Given the description of an element on the screen output the (x, y) to click on. 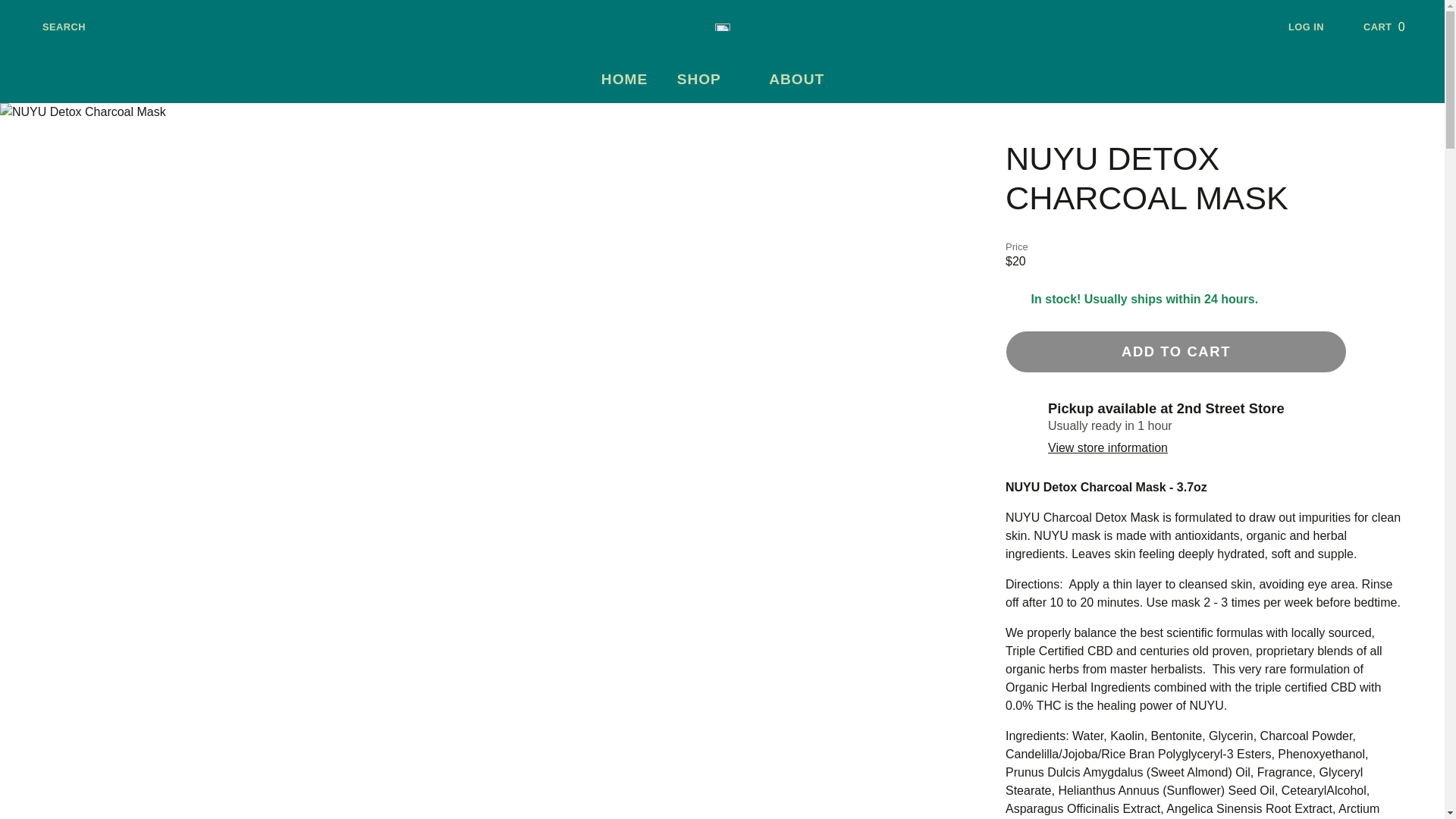
LOG IN (1318, 27)
ABOUT (805, 79)
ADD TO CART (1176, 351)
HOME (624, 79)
SHOP (708, 79)
SEARCH (1394, 27)
